Given the description of an element on the screen output the (x, y) to click on. 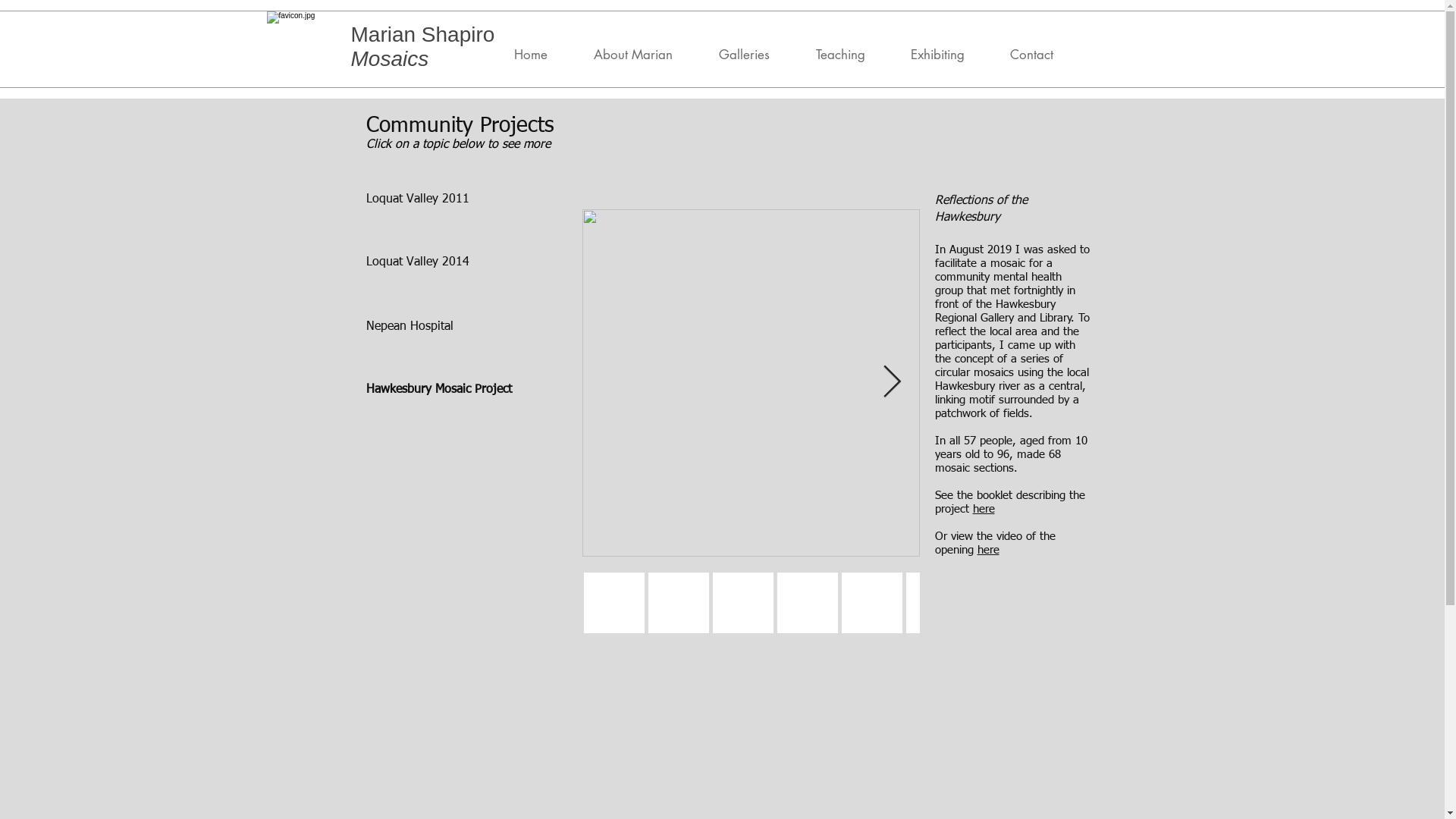
Galleries Element type: text (754, 54)
Teaching Element type: text (850, 54)
Home Element type: text (541, 54)
About Marian Element type: text (643, 54)
Hawkesbury Mosaic Project Element type: text (438, 389)
here Element type: text (983, 508)
Contact Element type: text (1041, 54)
Loquat Valley 2014 Element type: text (416, 262)
Loquat Valley 2011 Element type: text (416, 199)
Exhibiting Element type: text (947, 54)
here Element type: text (987, 549)
WEB-STAT Element type: hover (939, 55)
Nepean Hospital Element type: text (408, 326)
